Given the description of an element on the screen output the (x, y) to click on. 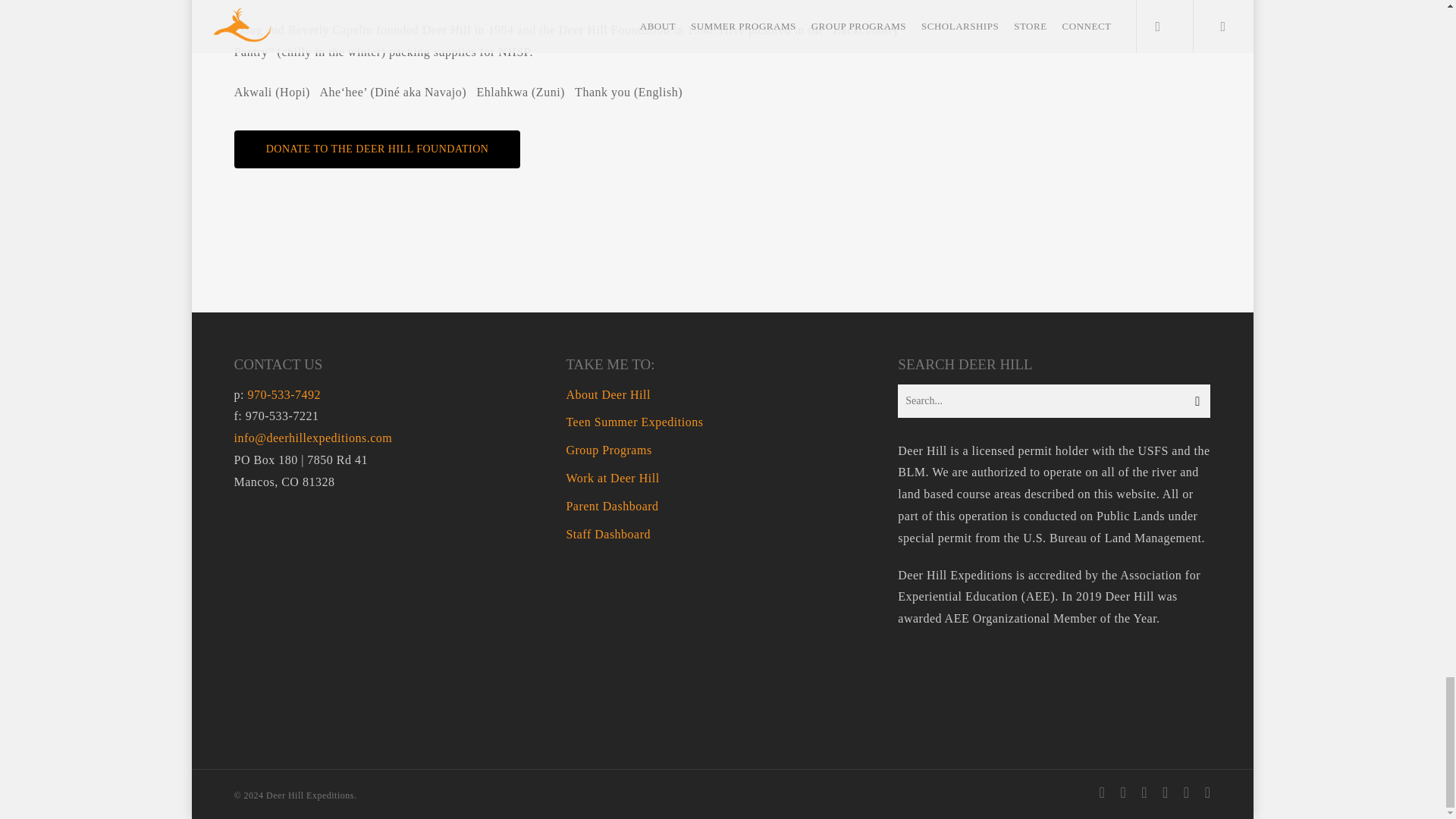
Search for: (1053, 400)
